Given the description of an element on the screen output the (x, y) to click on. 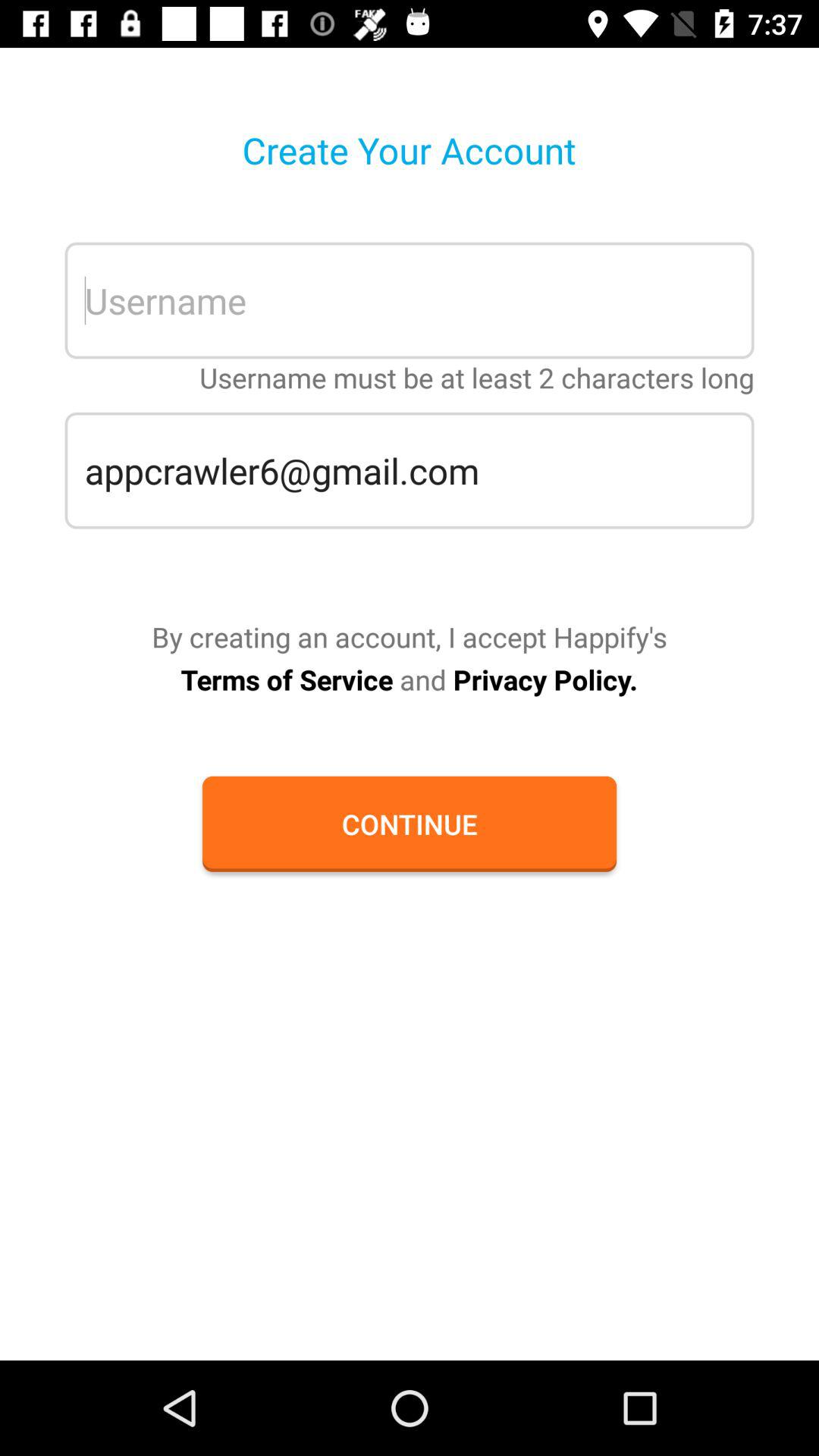
jump to continue (409, 823)
